Given the description of an element on the screen output the (x, y) to click on. 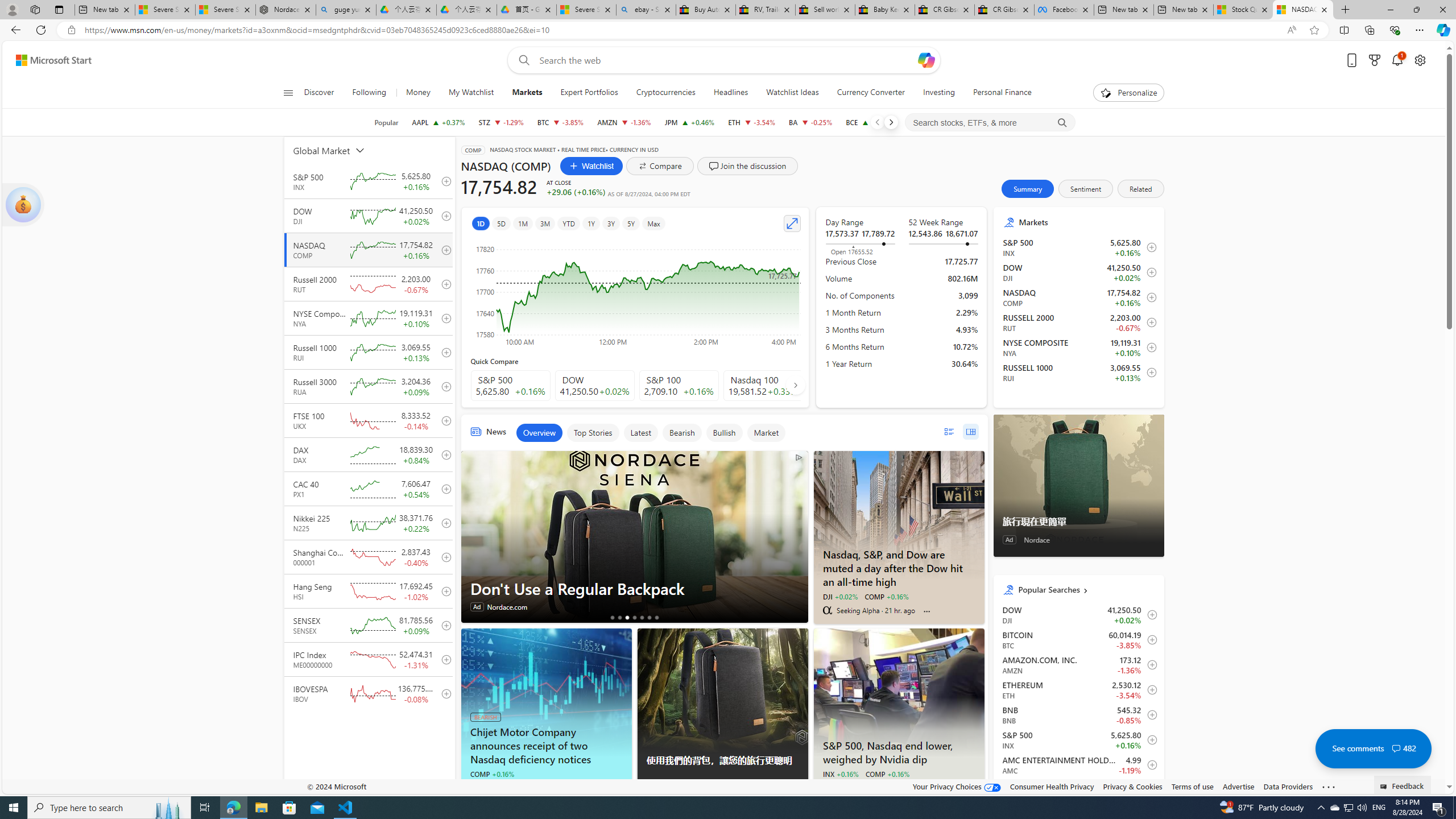
Reuters (826, 786)
Market (765, 432)
S&P 500, Nasdaq end lower, weighed by Nvidia dip - Reuters (898, 692)
Discover (323, 92)
1D (480, 223)
COMP +0.16% (887, 773)
5Y (630, 223)
Headlines (730, 92)
Web search (520, 60)
Don't Use a Regular Backpack (634, 536)
Sentiment (1085, 188)
Investing (937, 92)
Advertise (1238, 785)
